Given the description of an element on the screen output the (x, y) to click on. 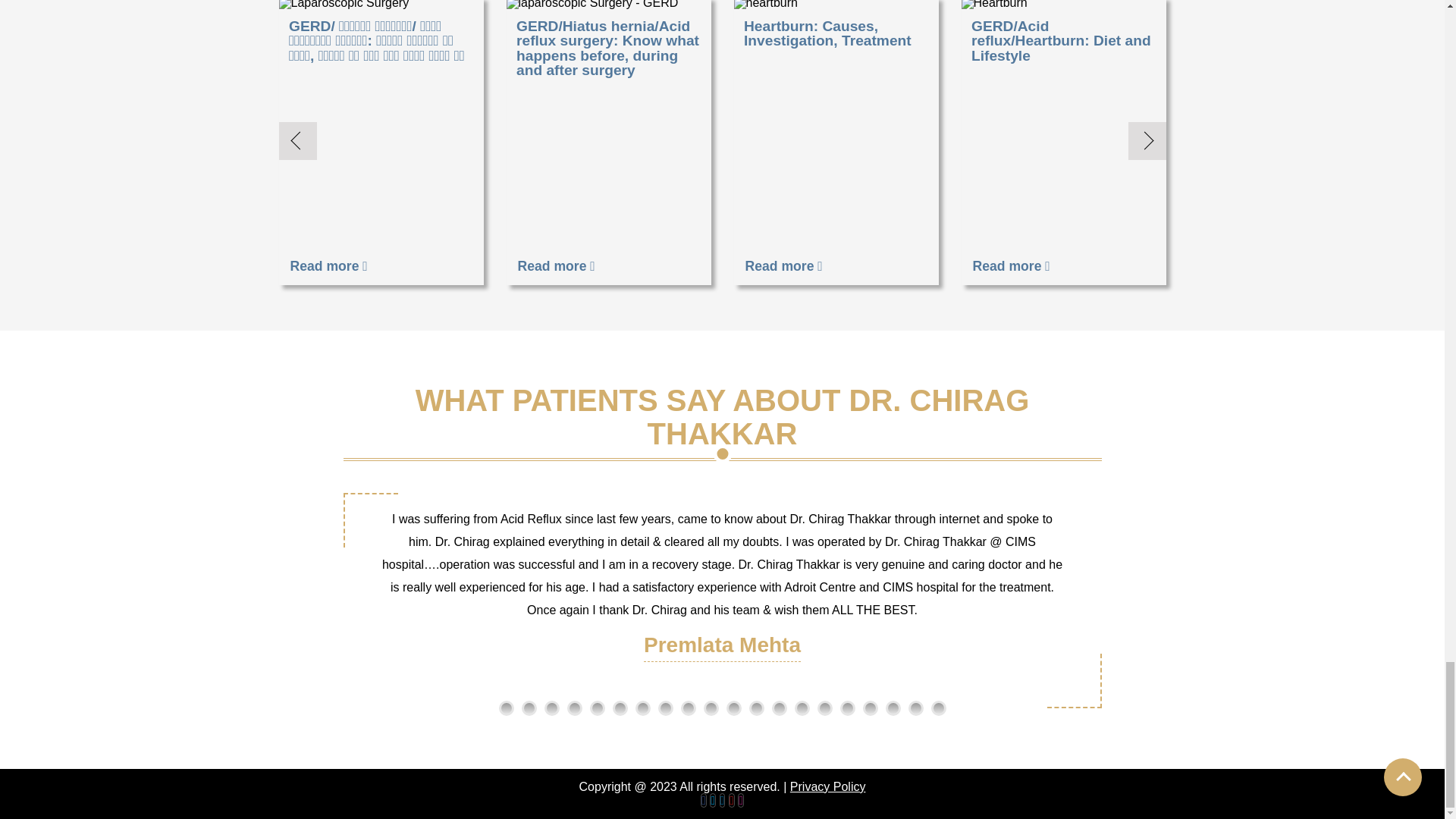
Read more (1010, 266)
Read more (556, 266)
Read more (328, 266)
Privacy Policy (828, 786)
Read more (783, 266)
